Given the description of an element on the screen output the (x, y) to click on. 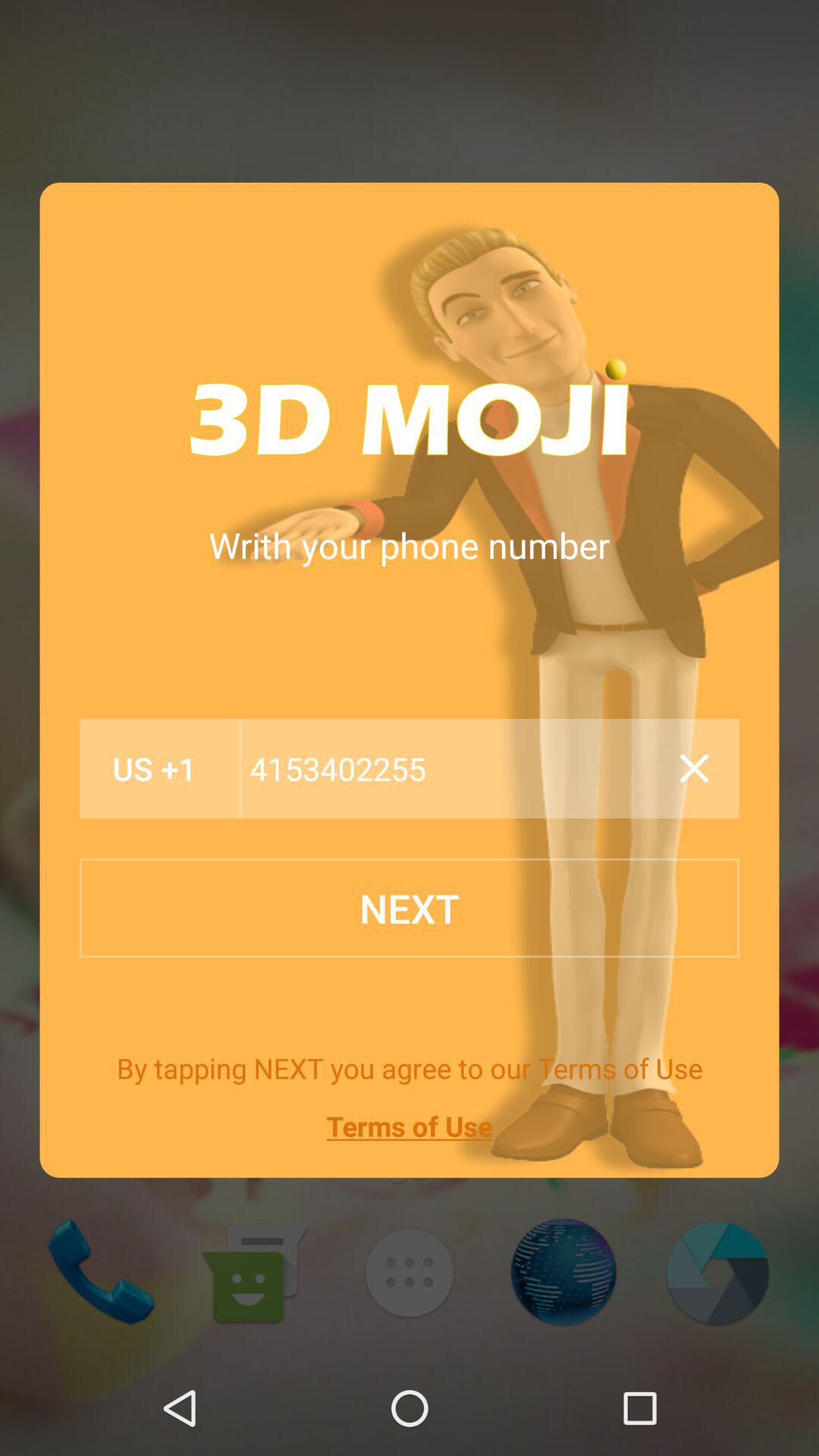
open item above the next button (694, 768)
